Given the description of an element on the screen output the (x, y) to click on. 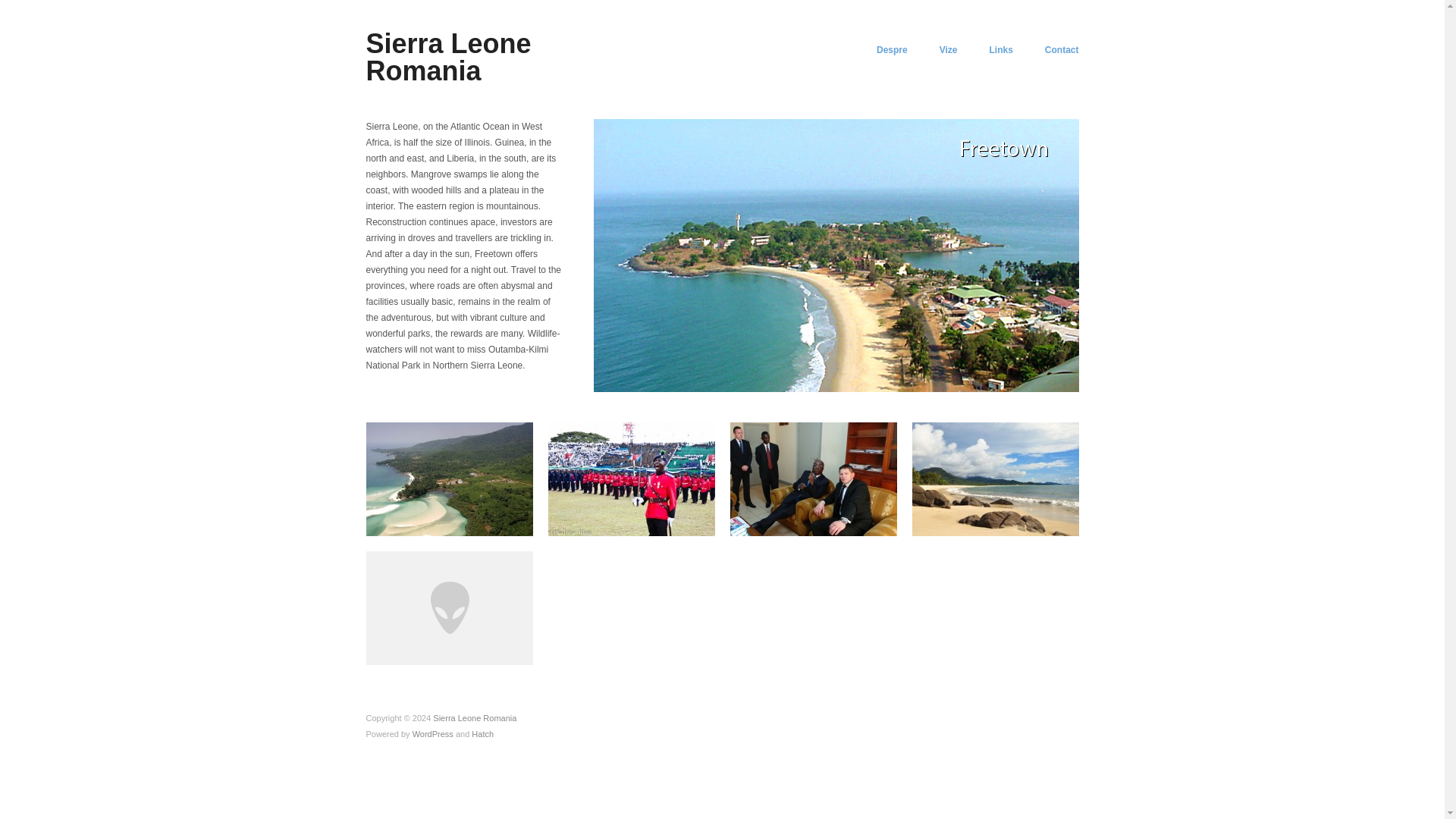
Contact (1061, 49)
Sierra Leone Romania (448, 56)
Primul Oficiu Consular (812, 478)
Vize (948, 49)
Despre (891, 49)
Misiune Sierra Leone (994, 478)
Hatch (482, 733)
WordPress (432, 733)
Hello world! (448, 606)
Links (999, 49)
